Given the description of an element on the screen output the (x, y) to click on. 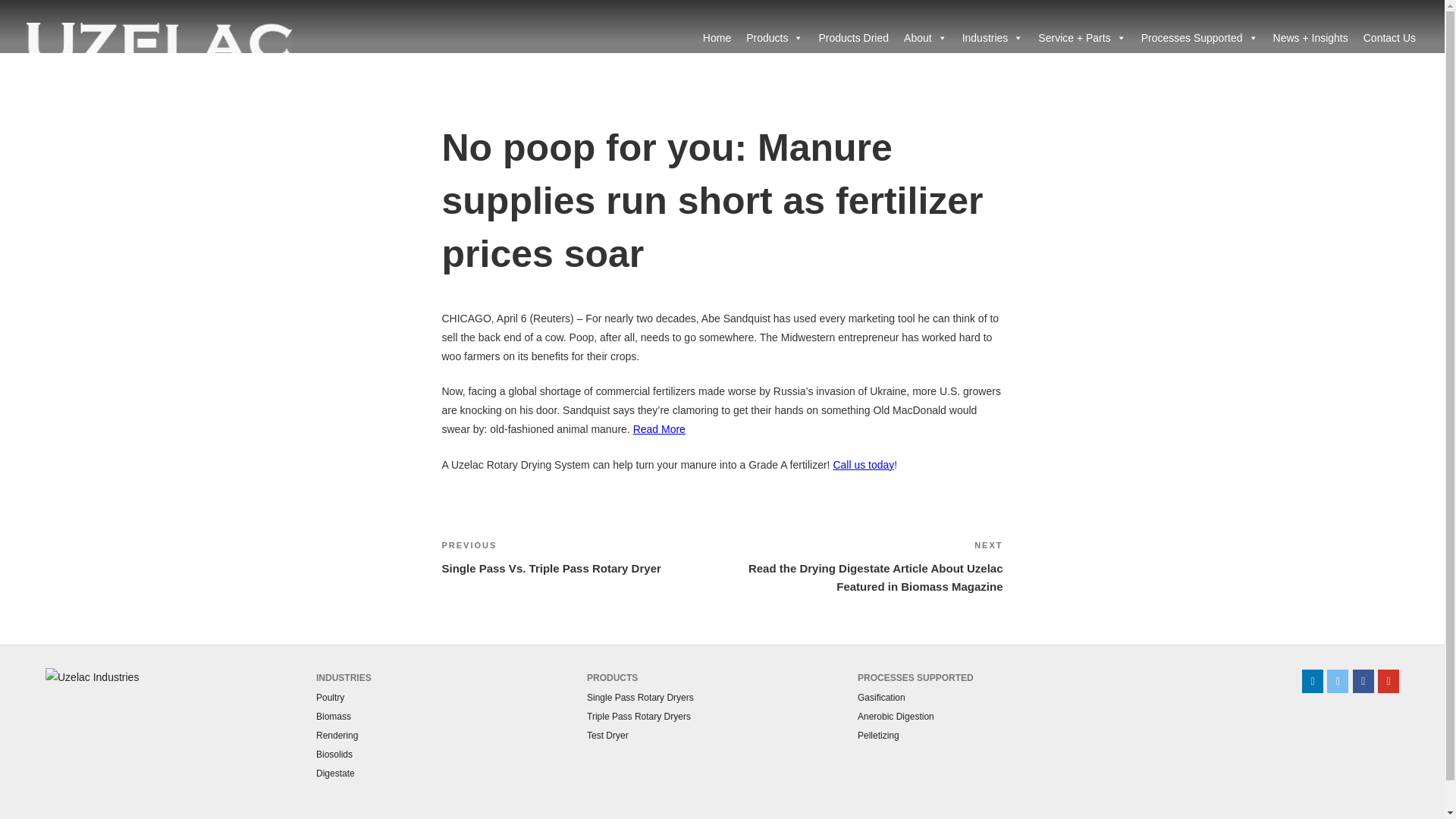
Products (774, 37)
Uzelac Industries, Inc. on X Twitter (1337, 680)
Home (716, 37)
Uzelac Industries, Inc. on Linkedin (1312, 680)
Products Dried (853, 37)
Uzelac Industries, Inc. on Facebook (1363, 680)
About (925, 37)
Uzelac Industries, Inc. on Youtube (1388, 680)
Industries (992, 37)
Processes Supported (1199, 37)
